Given the description of an element on the screen output the (x, y) to click on. 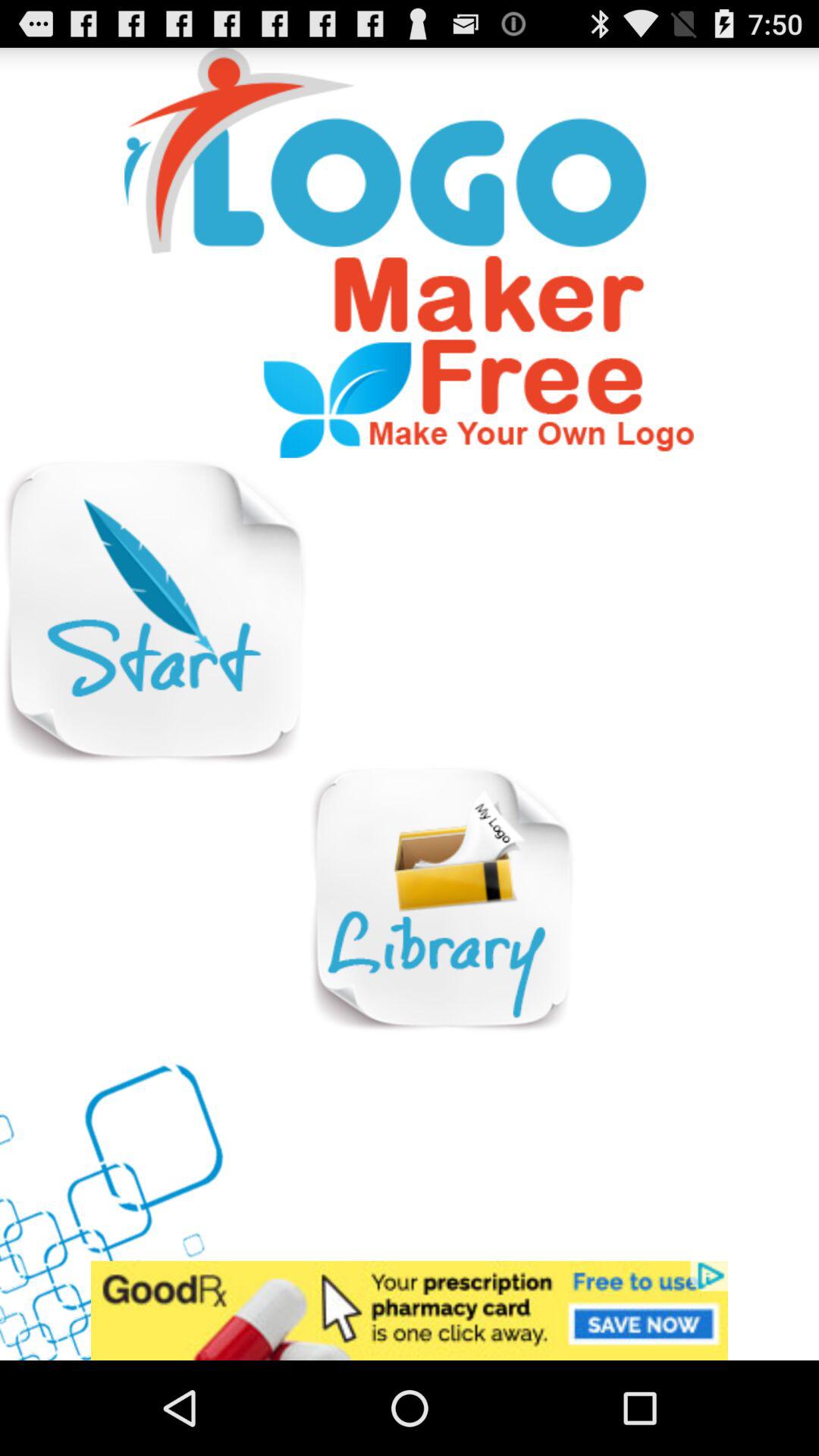
start (153, 611)
